Given the description of an element on the screen output the (x, y) to click on. 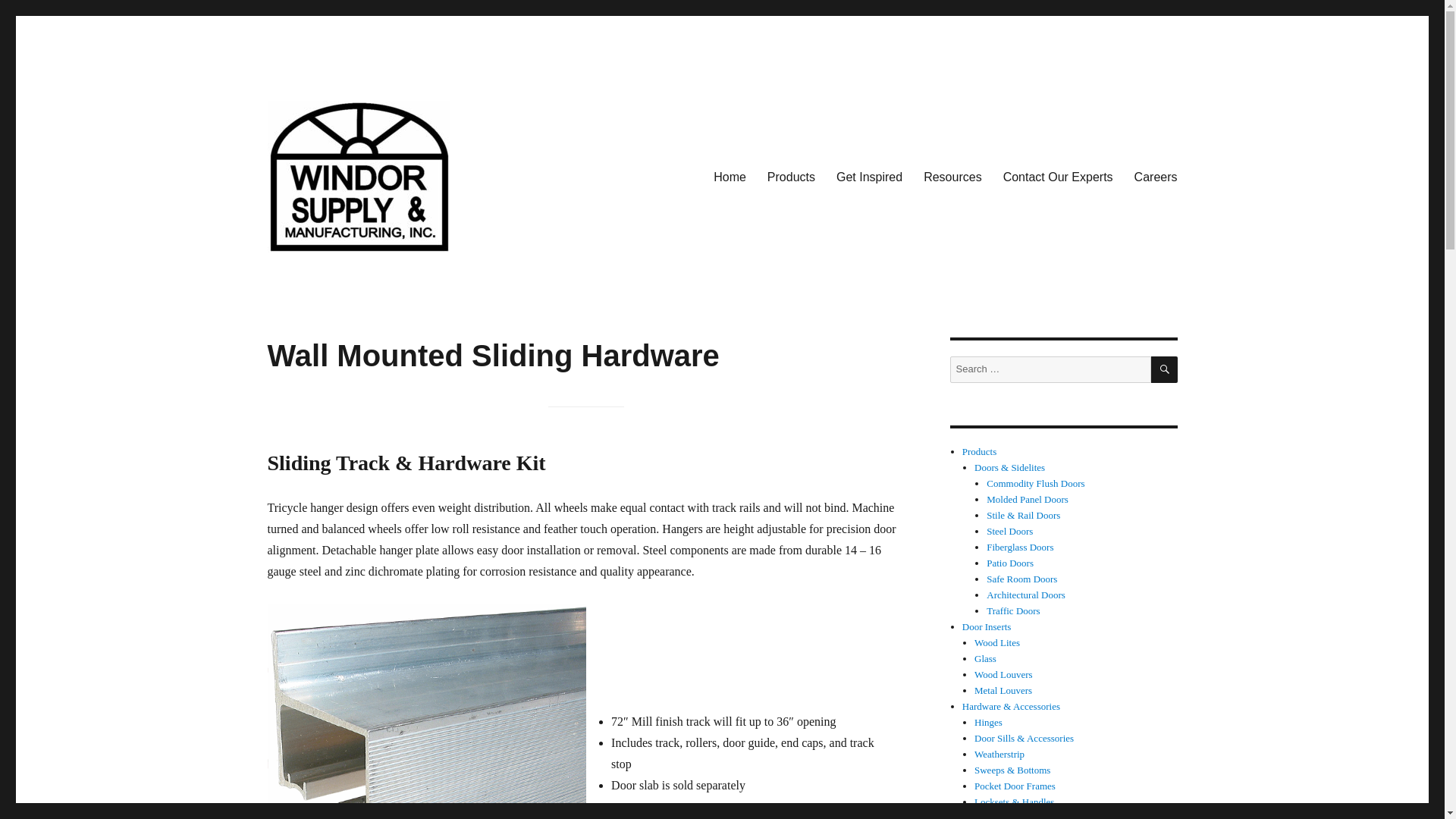
Molded Panel Doors (1027, 499)
Products (791, 176)
Get Inspired (868, 176)
Door Inserts (986, 626)
Architectural Doors (1026, 594)
Safe Room Doors (1022, 578)
Metal Louvers (1003, 690)
Contact Our Experts (1058, 176)
Glass (984, 658)
Steel Doors (1009, 531)
